Given the description of an element on the screen output the (x, y) to click on. 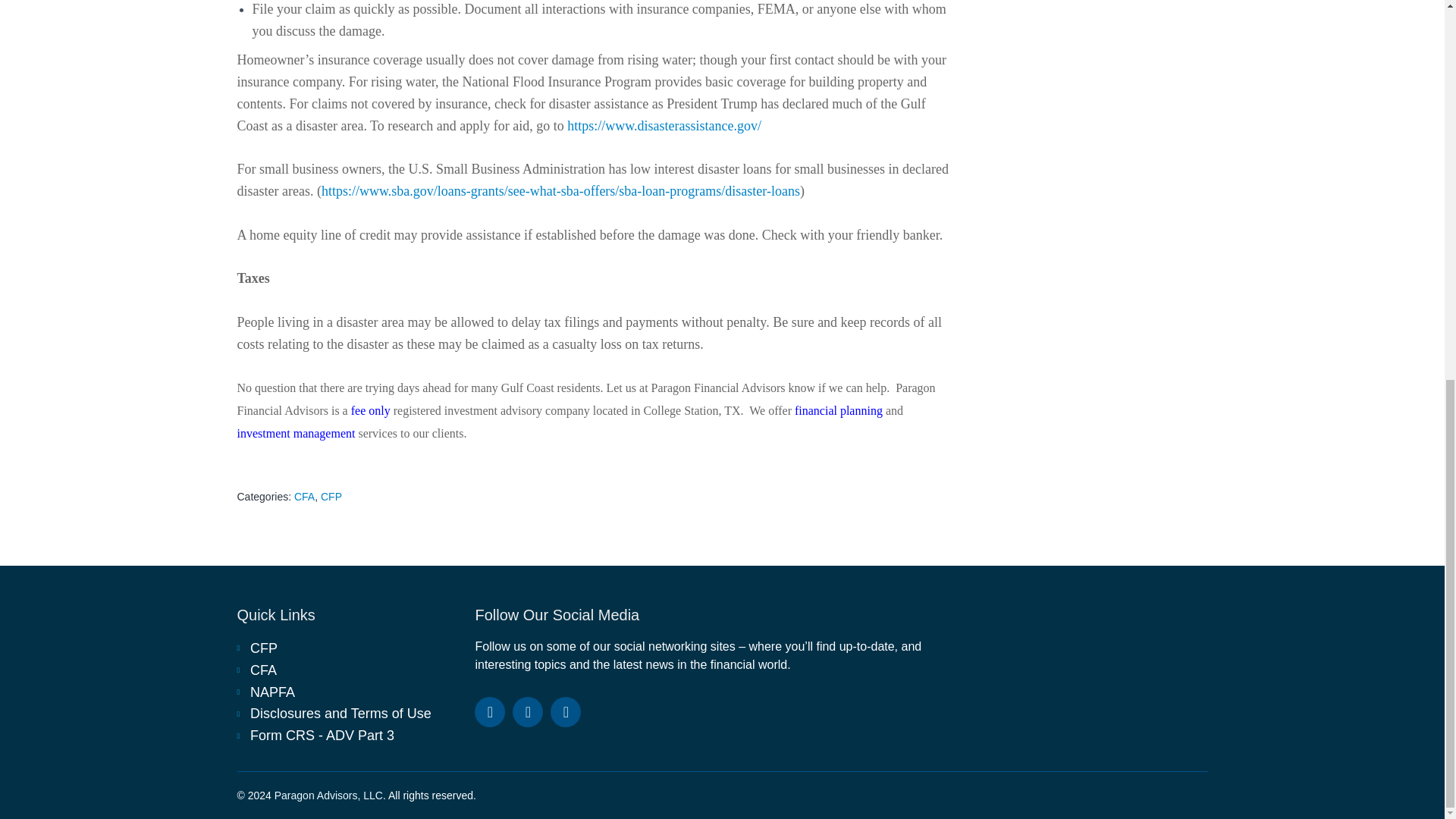
financial planning (838, 410)
Form CRS - ADV Part 3 (347, 735)
CFA (304, 496)
investment management (295, 432)
CFP (347, 649)
NAPFA (347, 692)
fee only (370, 410)
Disclosures and Terms of Use (347, 713)
CFA (347, 670)
CFP (331, 496)
